Given the description of an element on the screen output the (x, y) to click on. 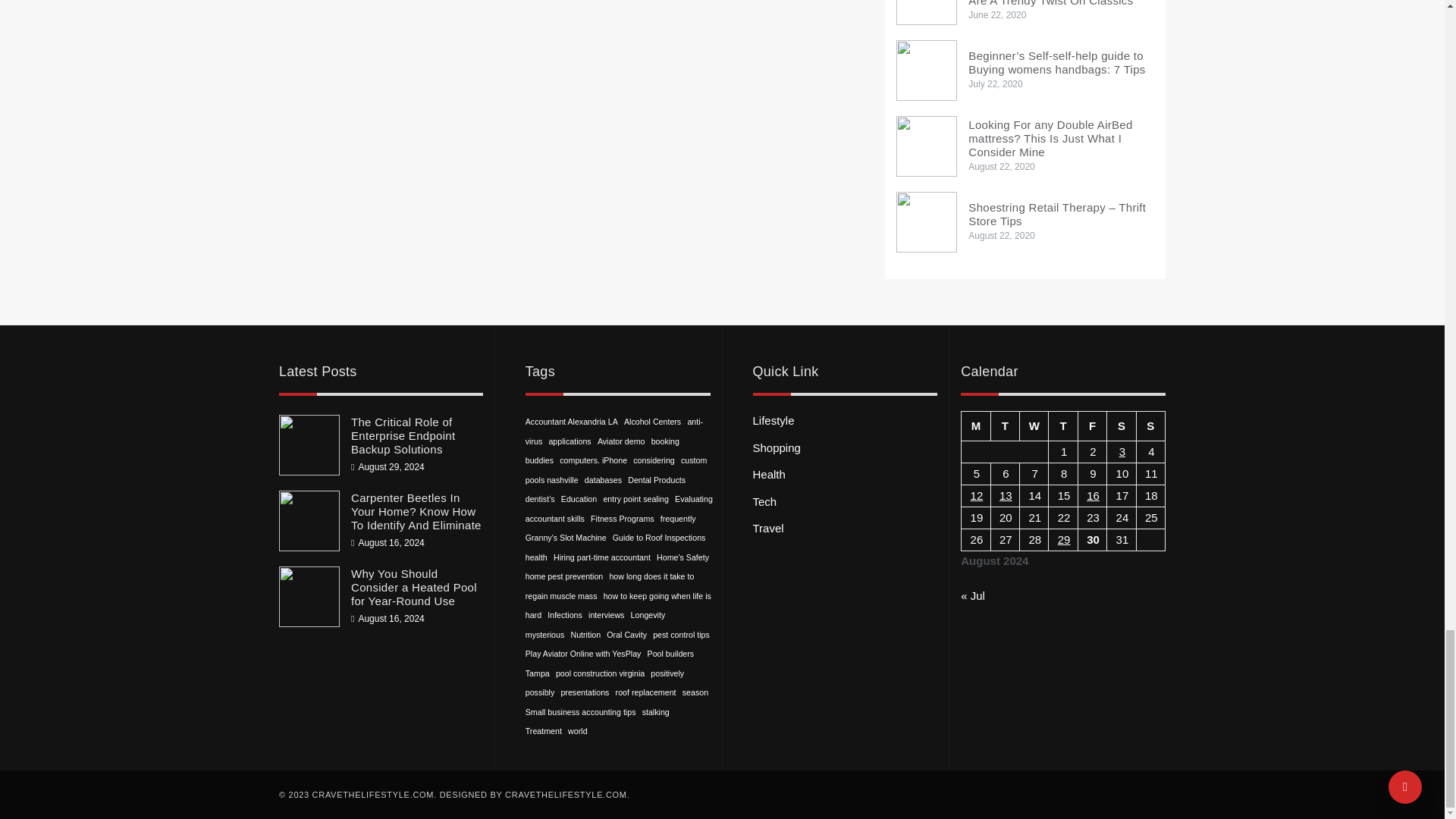
Friday (1091, 426)
Saturday (1120, 426)
Thursday (1062, 426)
Tuesday (1004, 426)
Sunday (1149, 426)
Wednesday (1034, 426)
Monday (975, 426)
